Given the description of an element on the screen output the (x, y) to click on. 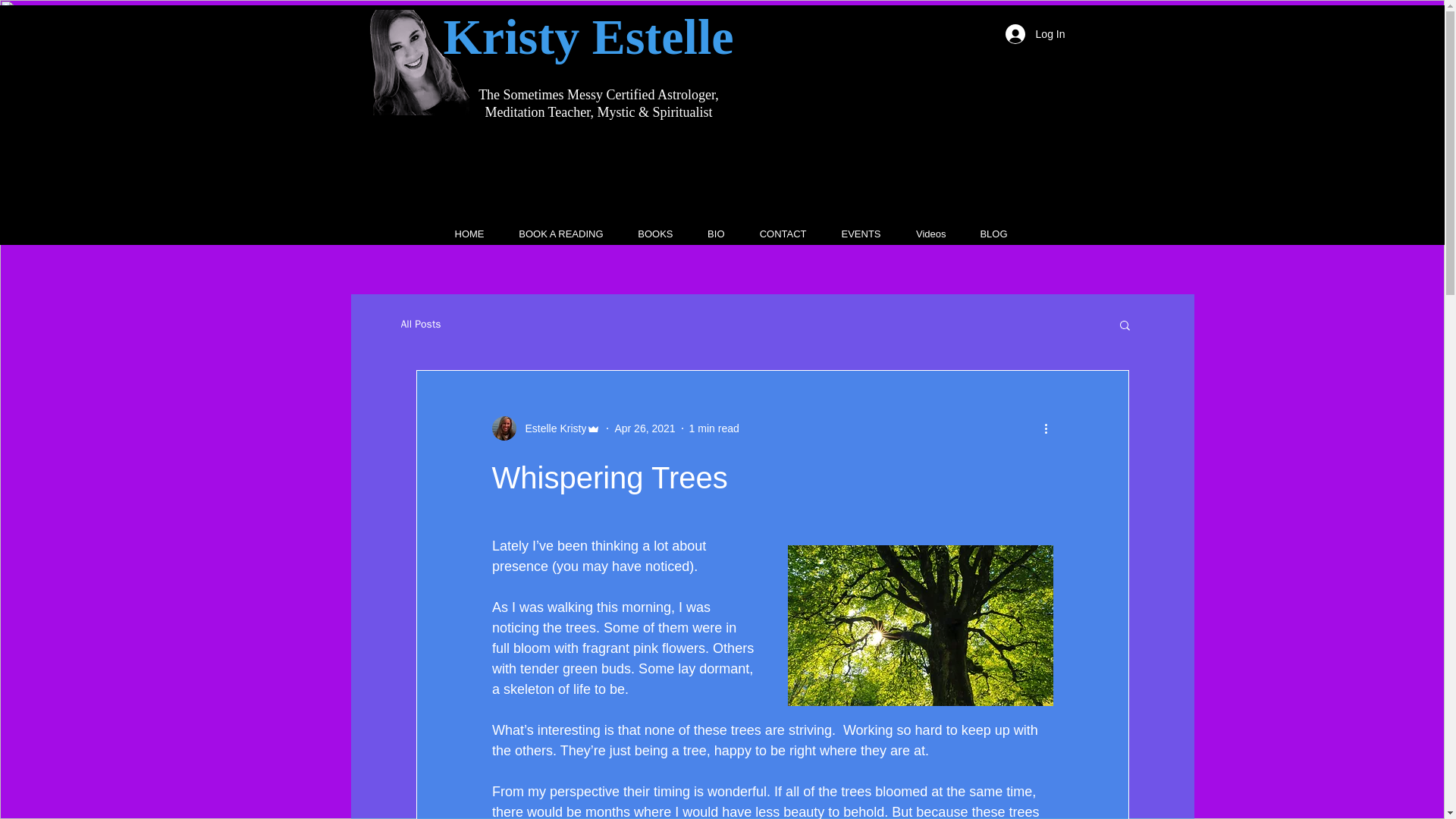
Estelle Kristy (550, 427)
Videos (920, 233)
HOME (460, 233)
BOOKS (646, 233)
CONTACT (772, 233)
BIO (706, 233)
Apr 26, 2021 (644, 427)
EVENTS (850, 233)
BLOG (983, 233)
BOOK A READING (552, 233)
Log In (1034, 33)
Estelle Kristy (545, 428)
1 min read (713, 427)
All Posts (420, 324)
